Given the description of an element on the screen output the (x, y) to click on. 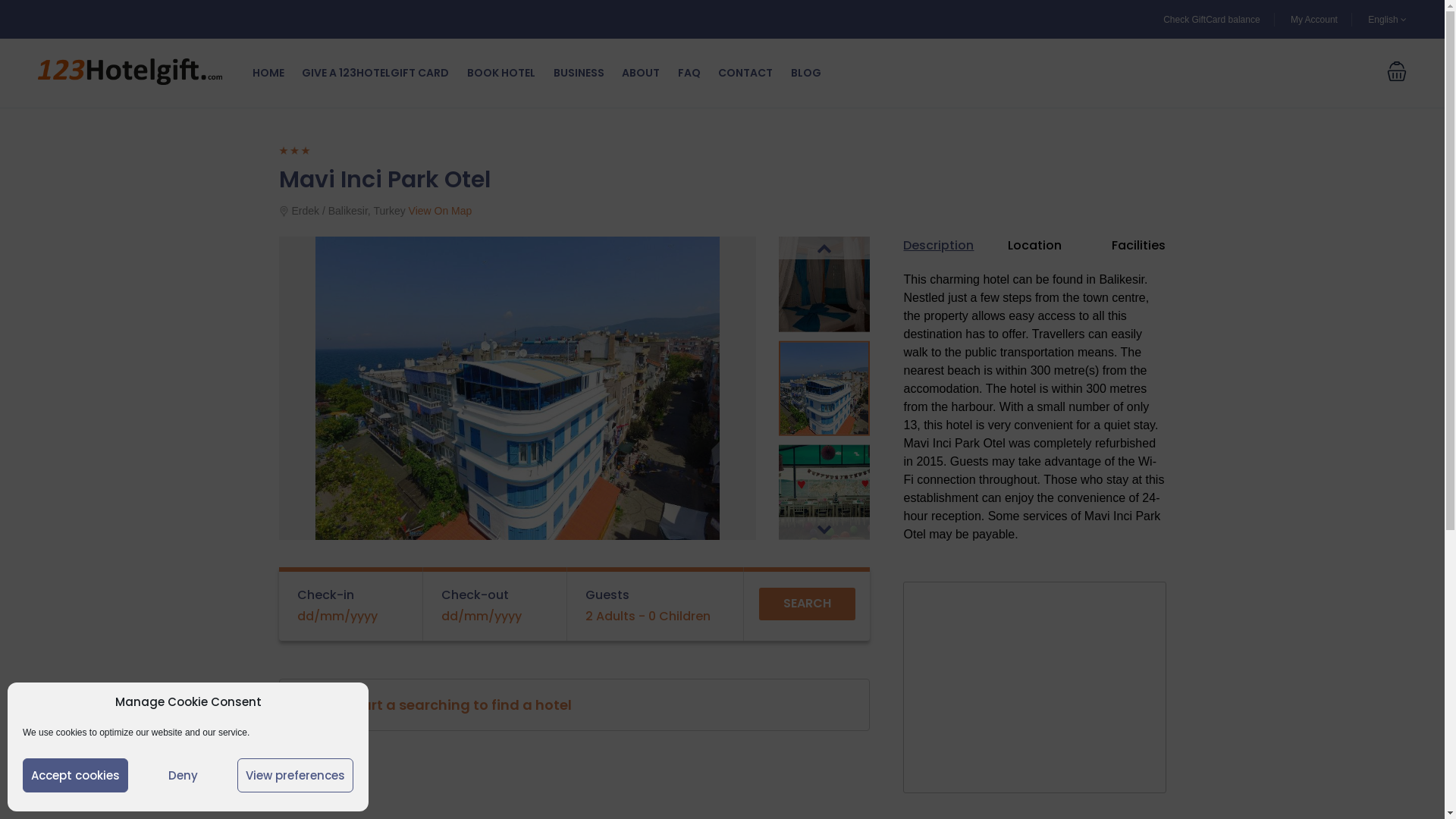
View On Map Element type: text (440, 210)
My Account Element type: text (1313, 18)
CONTACT Element type: text (745, 72)
Accept cookies Element type: text (75, 775)
Search Element type: text (807, 603)
Deny Element type: text (182, 775)
BUSINESS Element type: text (578, 72)
Check GiftCard balance Element type: text (1211, 18)
BOOK HOTEL Element type: text (500, 72)
FAQ Element type: text (689, 72)
View preferences Element type: text (295, 775)
BLOG Element type: text (805, 72)
HOME Element type: text (267, 72)
ABOUT Element type: text (640, 72)
GIVE A 123HOTELGIFT CARD Element type: text (375, 72)
English Element type: text (1387, 18)
